Given the description of an element on the screen output the (x, y) to click on. 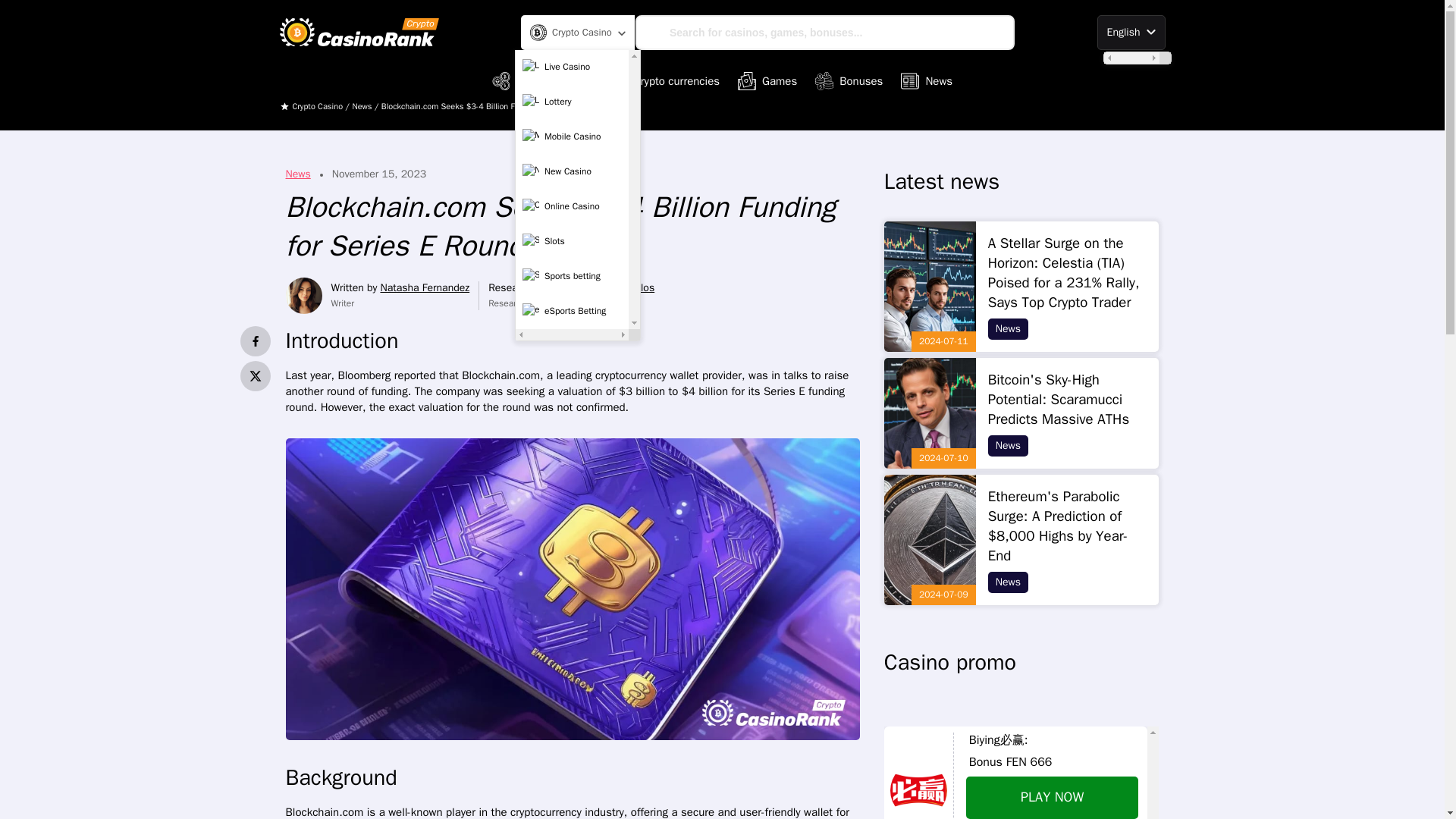
Lottery (572, 102)
Crypto Casinos (541, 80)
eSports Betting (572, 311)
New Casino (572, 172)
Sports betting (572, 276)
Crypto currencies (665, 80)
Bonuses (848, 80)
Online Casino (572, 206)
Mobile Casino (572, 136)
Slots (572, 241)
News (926, 80)
Live Casino (572, 67)
Games (767, 80)
